Given the description of an element on the screen output the (x, y) to click on. 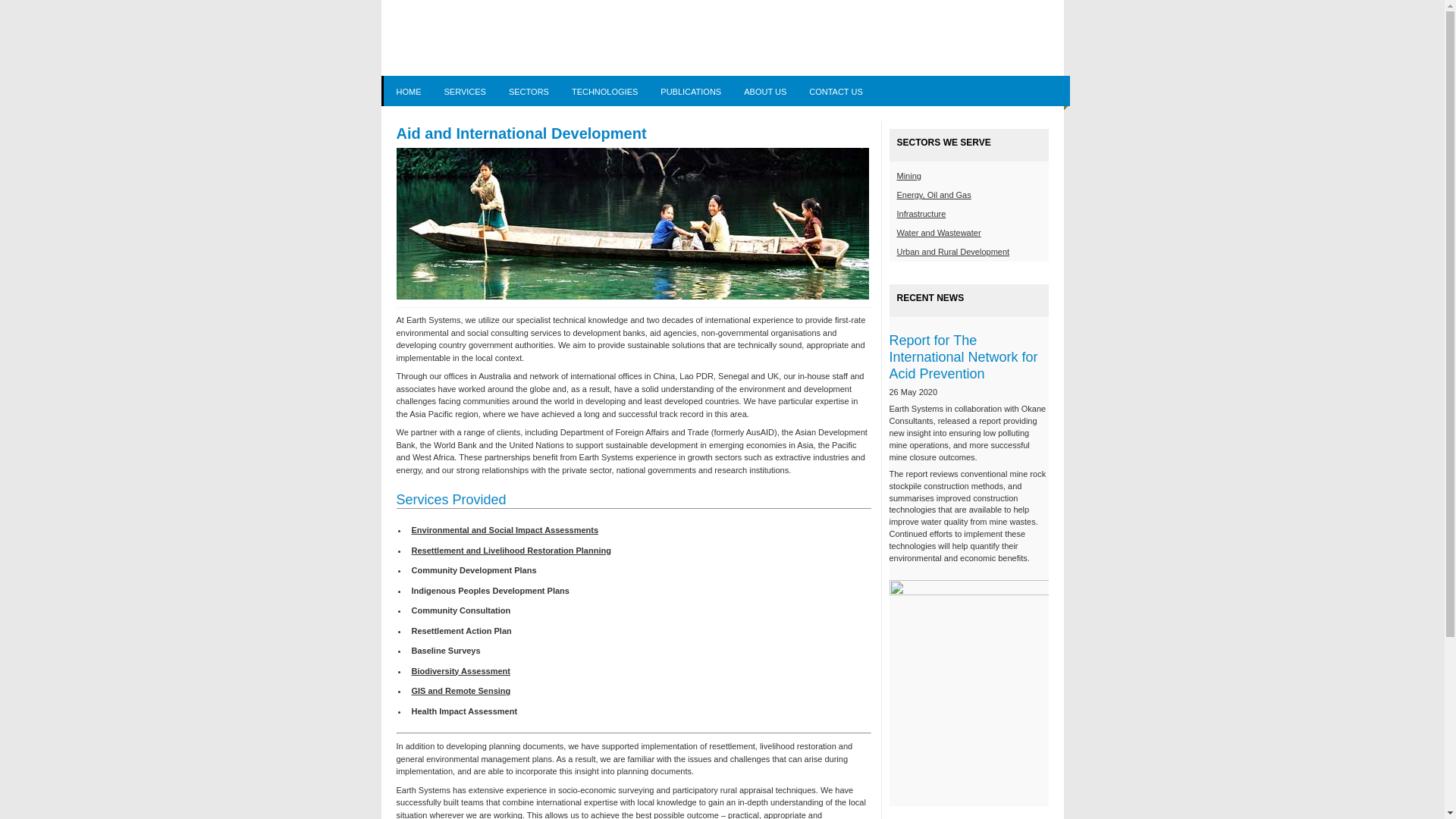
SERVICES Element type: text (465, 91)
Biodiversity Assessment Element type: text (460, 669)
Infrastructure Element type: text (920, 213)
SECTORS Element type: text (528, 91)
Water and Wastewater Element type: text (938, 232)
GIS and Remote Sensing Element type: text (460, 690)
Urban and Rural Development Element type: text (952, 251)
Environmental and Social Impact Assessments Element type: text (504, 529)
Energy, Oil and Gas Element type: text (933, 194)
HOME Element type: text (407, 91)
PUBLICATIONS Element type: text (690, 91)
ABOUT US Element type: text (764, 91)
Mining Element type: text (908, 175)
Resettlement and Livelihood Restoration Planning Element type: text (510, 550)
TECHNOLOGIES Element type: text (604, 91)
CONTACT US Element type: text (835, 91)
